Given the description of an element on the screen output the (x, y) to click on. 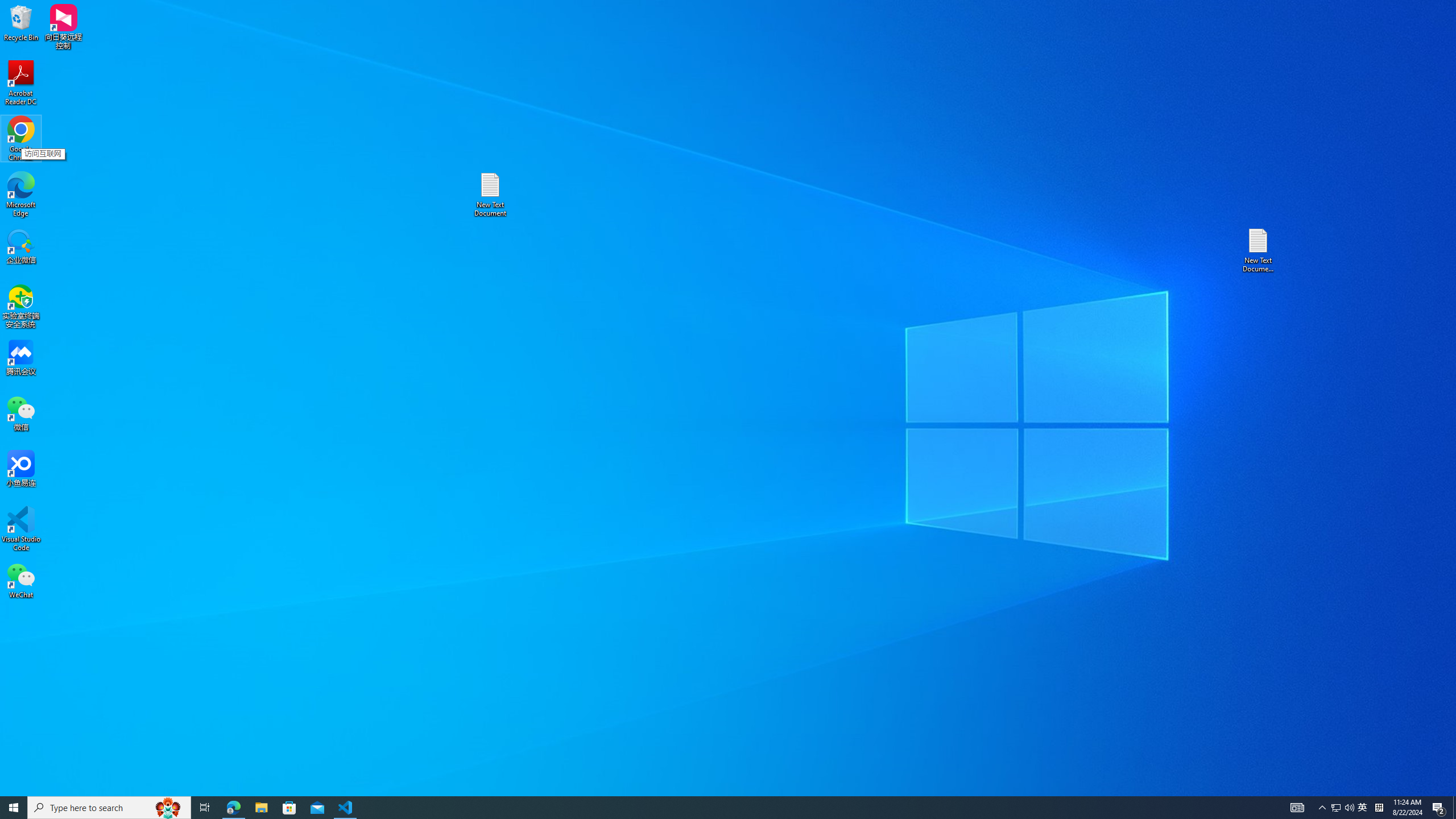
Type here to search (1362, 807)
